Given the description of an element on the screen output the (x, y) to click on. 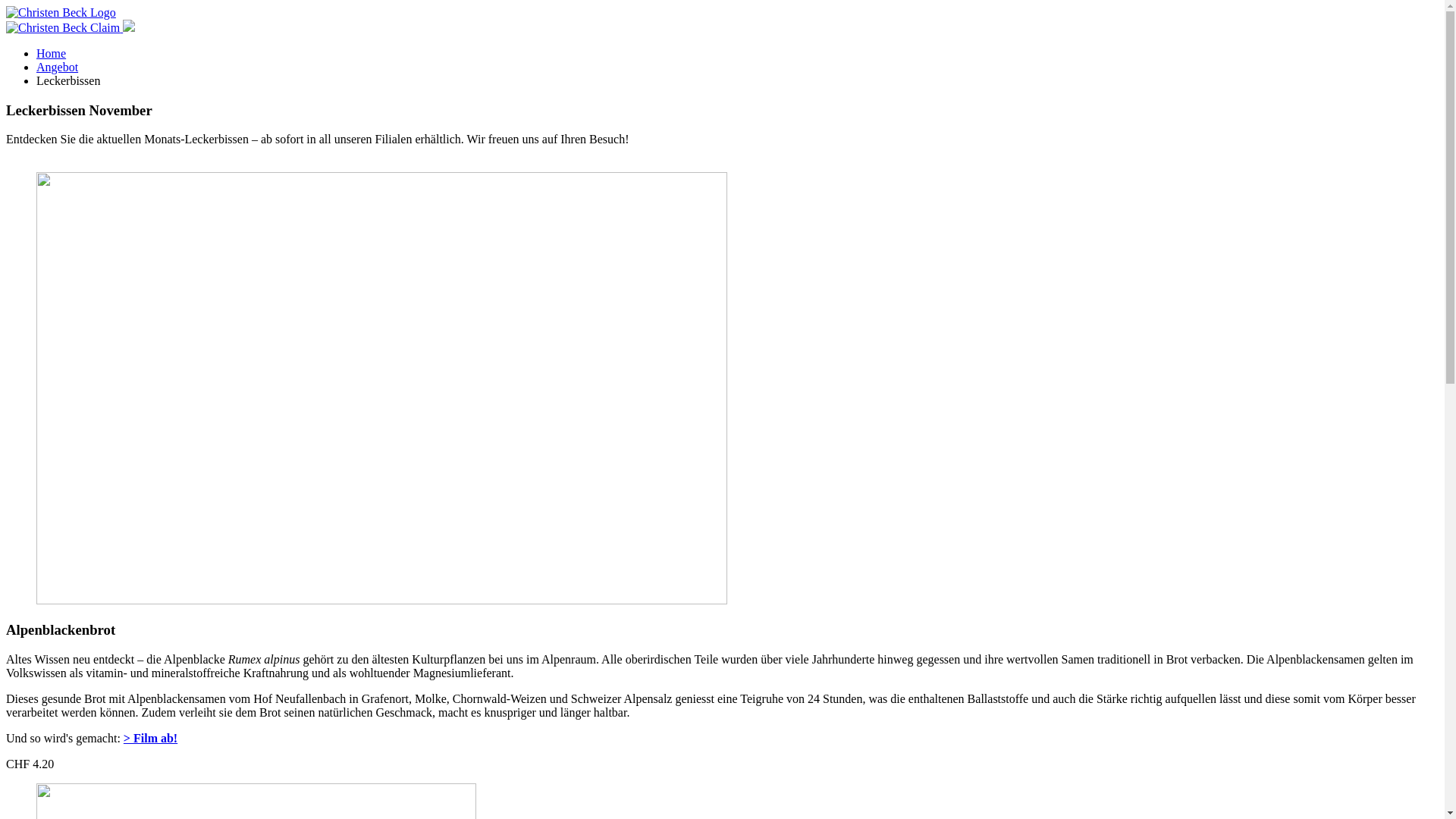
Angebot Element type: text (57, 66)
> Film ab! Element type: text (150, 737)
Home Element type: text (50, 53)
